Given the description of an element on the screen output the (x, y) to click on. 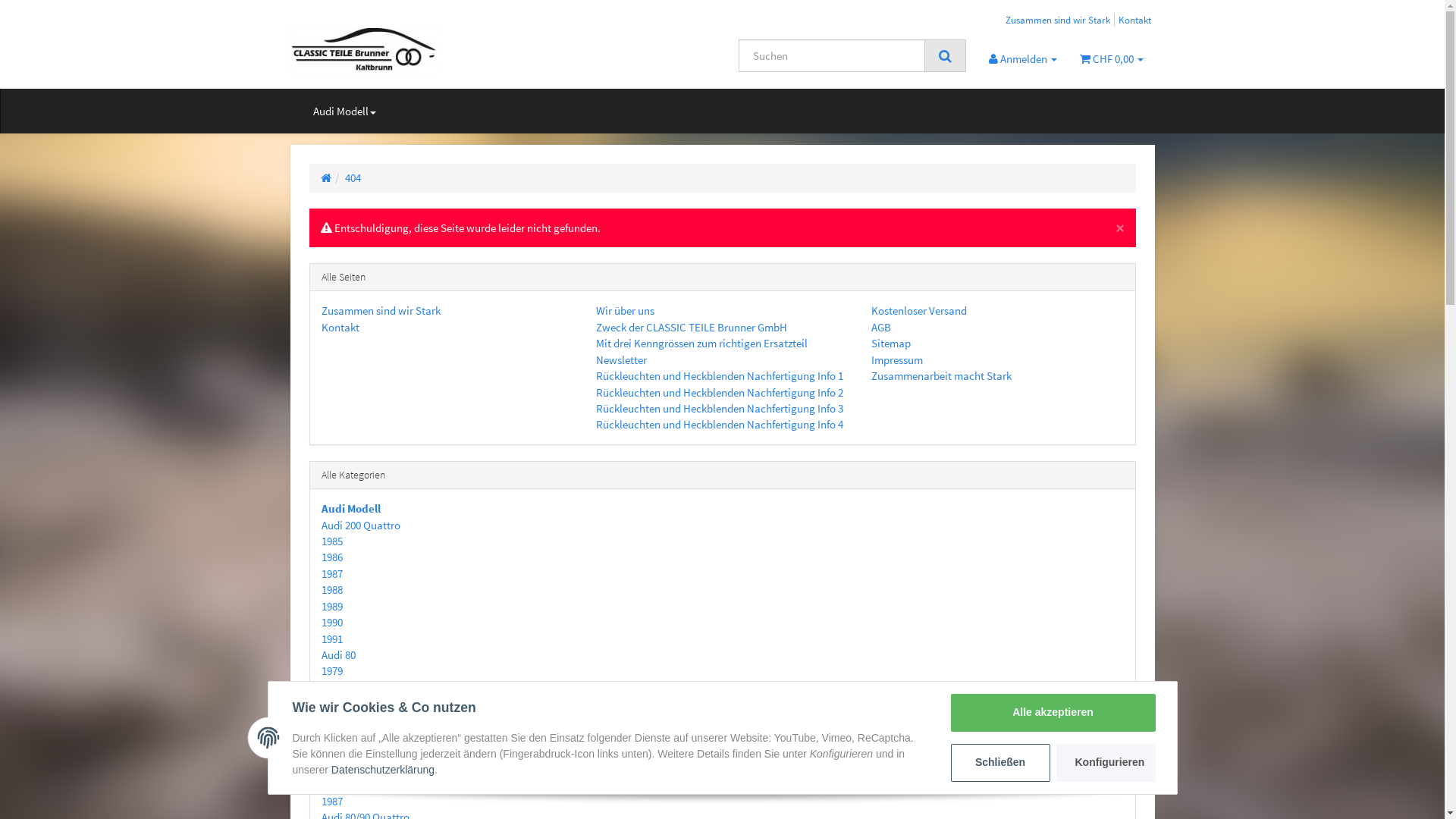
CHF 0,00 Element type: text (1110, 58)
Alle akzeptieren Element type: text (1052, 712)
Kontakt Element type: text (1133, 19)
404 Element type: text (352, 177)
Audi Modell Element type: text (350, 508)
1990 Element type: text (331, 622)
Newsletter Element type: text (621, 359)
AGB Element type: text (881, 327)
Zweck der CLASSIC TEILE Brunner GmbH Element type: text (691, 327)
Kontakt Element type: text (340, 327)
1987 Element type: text (331, 800)
Zusammen sind wir Stark Element type: text (1057, 19)
Zusammen sind wir Stark Element type: text (380, 310)
Kostenloser Versand Element type: text (918, 310)
1980 Element type: text (331, 687)
1986 Element type: text (331, 784)
Impressum Element type: text (896, 359)
1979 Element type: text (331, 670)
1983 Element type: text (331, 735)
1986 Element type: text (331, 556)
Anmelden Element type: text (1021, 58)
1985 Element type: text (331, 768)
Zusammenarbeit macht Stark Element type: text (941, 375)
Audi 80 Element type: text (338, 654)
CLASSIC TEILE Brunner GmbH Element type: hover (425, 50)
Startseite Element type: hover (325, 177)
1989 Element type: text (331, 606)
Audi 200 Quattro Element type: text (360, 524)
1984 Element type: text (331, 752)
1987 Element type: text (331, 573)
1985 Element type: text (331, 540)
Audi Modell Element type: text (344, 110)
Konfigurieren Element type: text (1104, 762)
1988 Element type: text (331, 589)
Sitemap Element type: text (890, 342)
1981 Element type: text (331, 703)
1991 Element type: text (331, 638)
1982 Element type: text (331, 719)
